Given the description of an element on the screen output the (x, y) to click on. 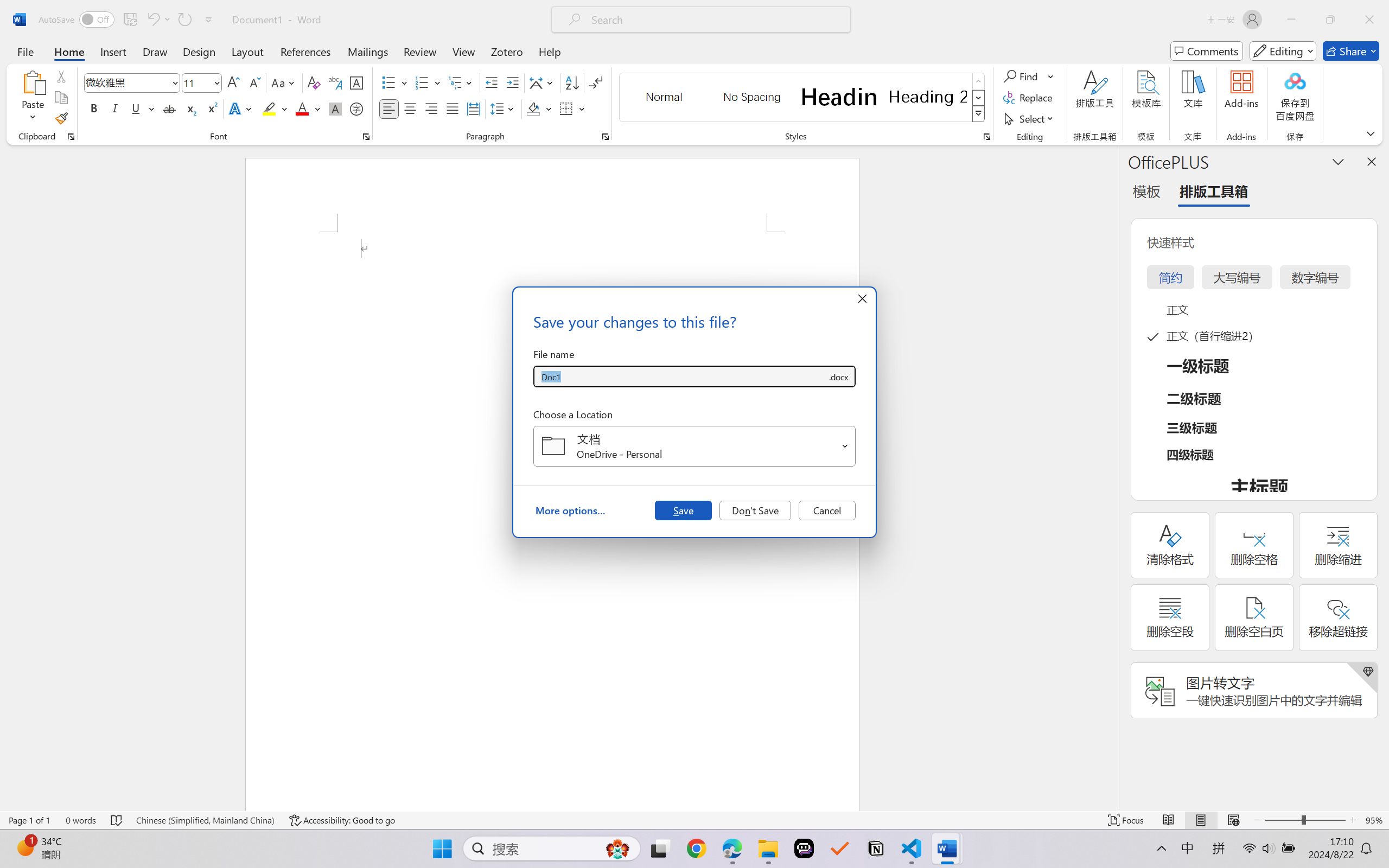
Repeat Style (184, 19)
Class: MsoCommandBar (694, 819)
Microsoft search (715, 19)
